Given the description of an element on the screen output the (x, y) to click on. 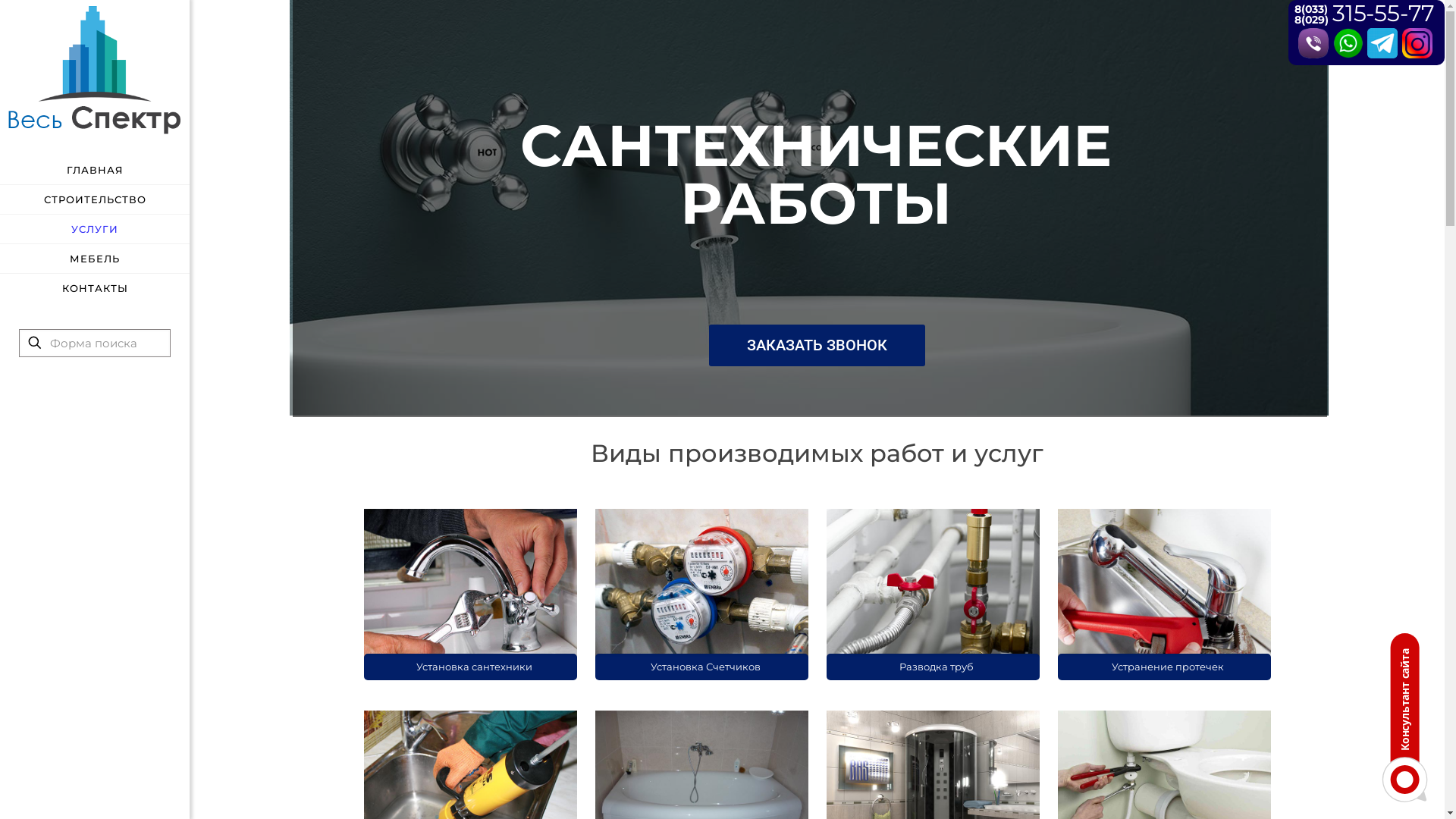
8(033) Element type: text (1310, 8)
8(029) Element type: text (1311, 19)
